Given the description of an element on the screen output the (x, y) to click on. 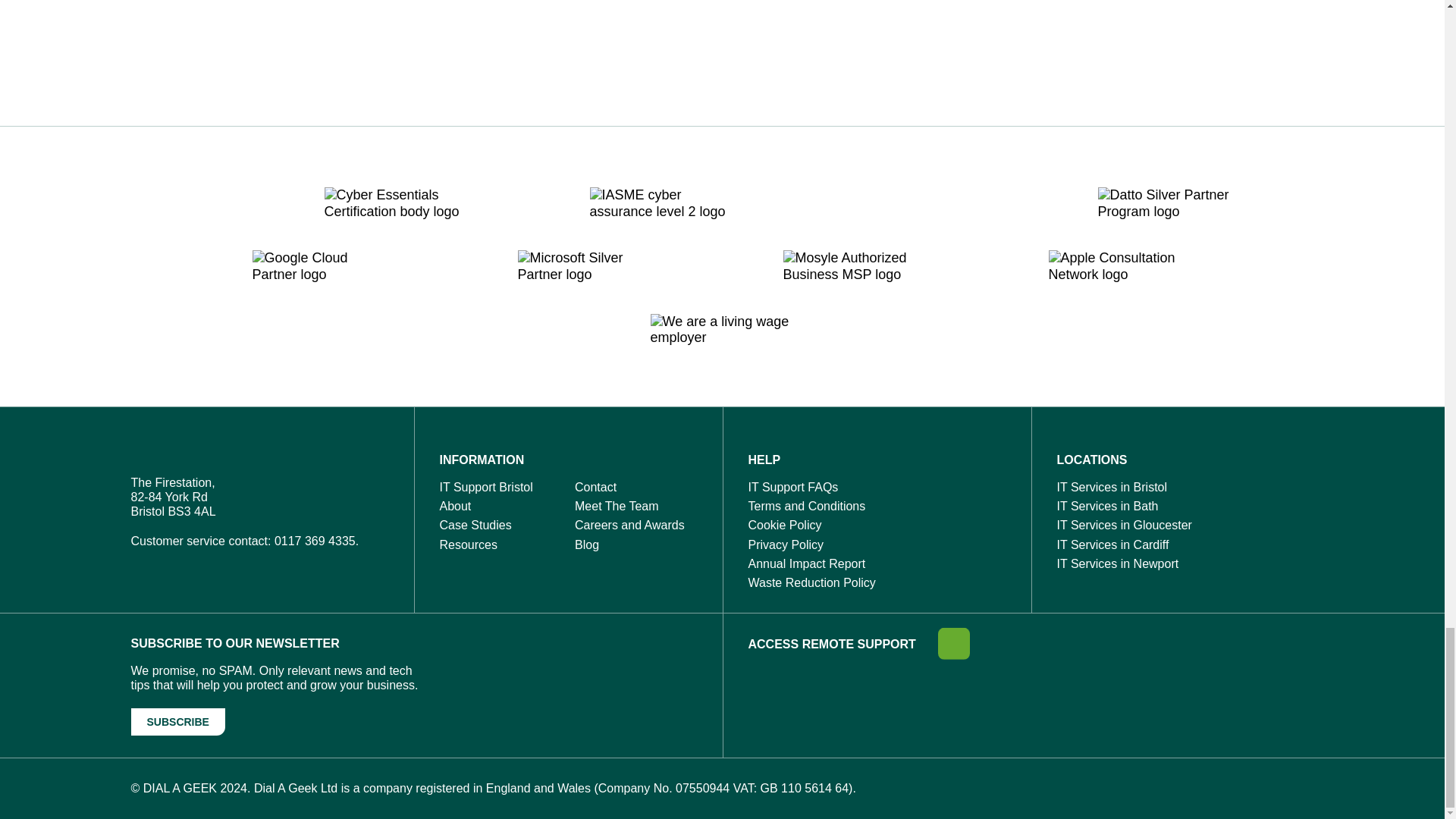
IT Support Bristol (485, 486)
Meet The Team (617, 505)
IT Services in Bristol (1112, 486)
Cookie Policy (784, 524)
Resources (468, 544)
About (455, 505)
Terms and Conditions (806, 505)
Privacy Policy (786, 544)
Waste Reduction Policy (811, 582)
Blog (586, 544)
Scroll to top (151, 65)
IT Services in Bath (1107, 505)
Scroll to top (151, 65)
IT Support FAQs (793, 486)
IT Services in Gloucester (1124, 524)
